Given the description of an element on the screen output the (x, y) to click on. 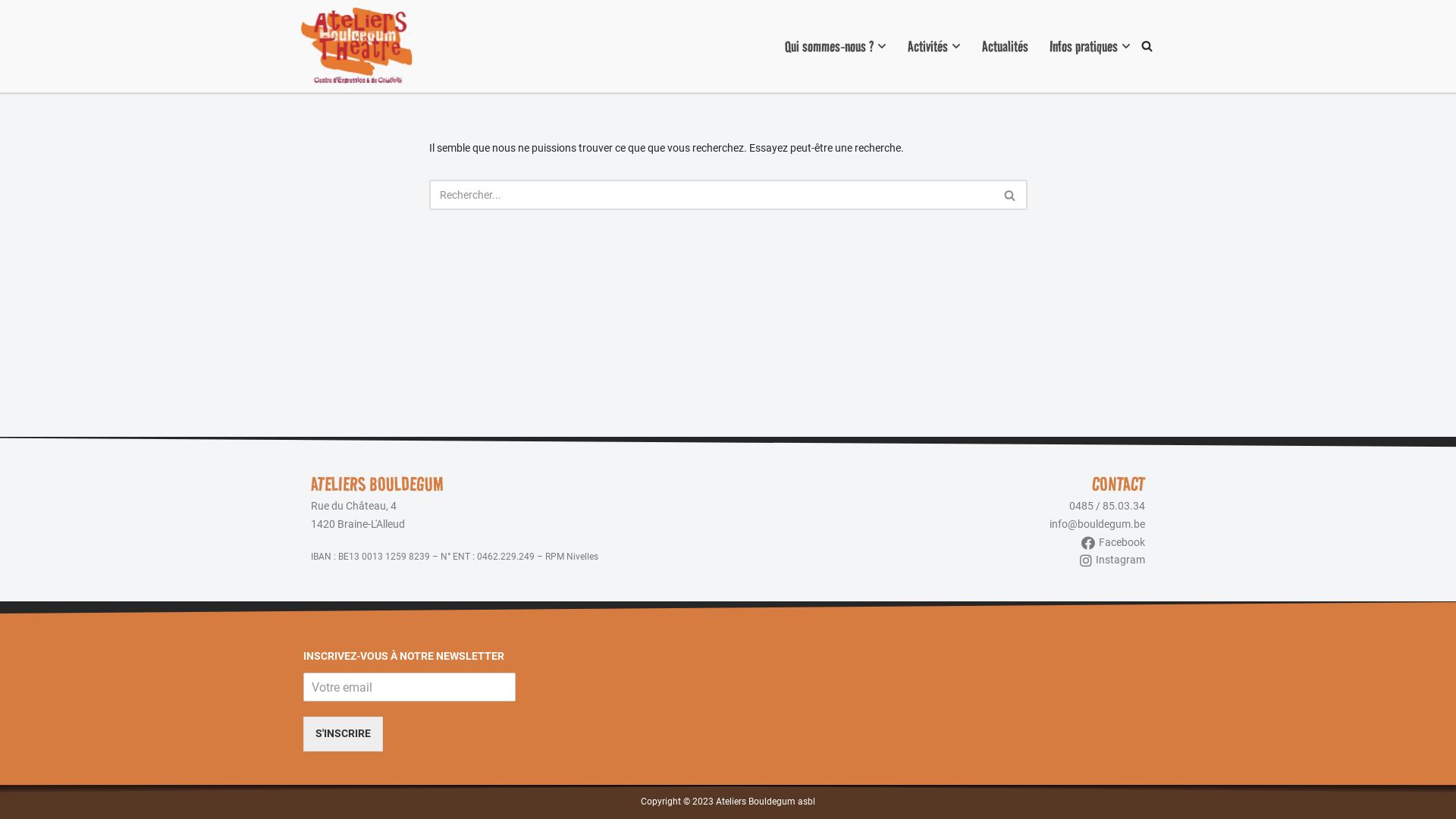
Infos pratiques Element type: text (1083, 45)
Facebook Element type: text (940, 542)
Qui sommes-nous ? Element type: text (828, 45)
Instagram Element type: text (940, 560)
Aller au contenu Element type: text (11, 31)
S'INSCRIRE Element type: text (342, 733)
